Given the description of an element on the screen output the (x, y) to click on. 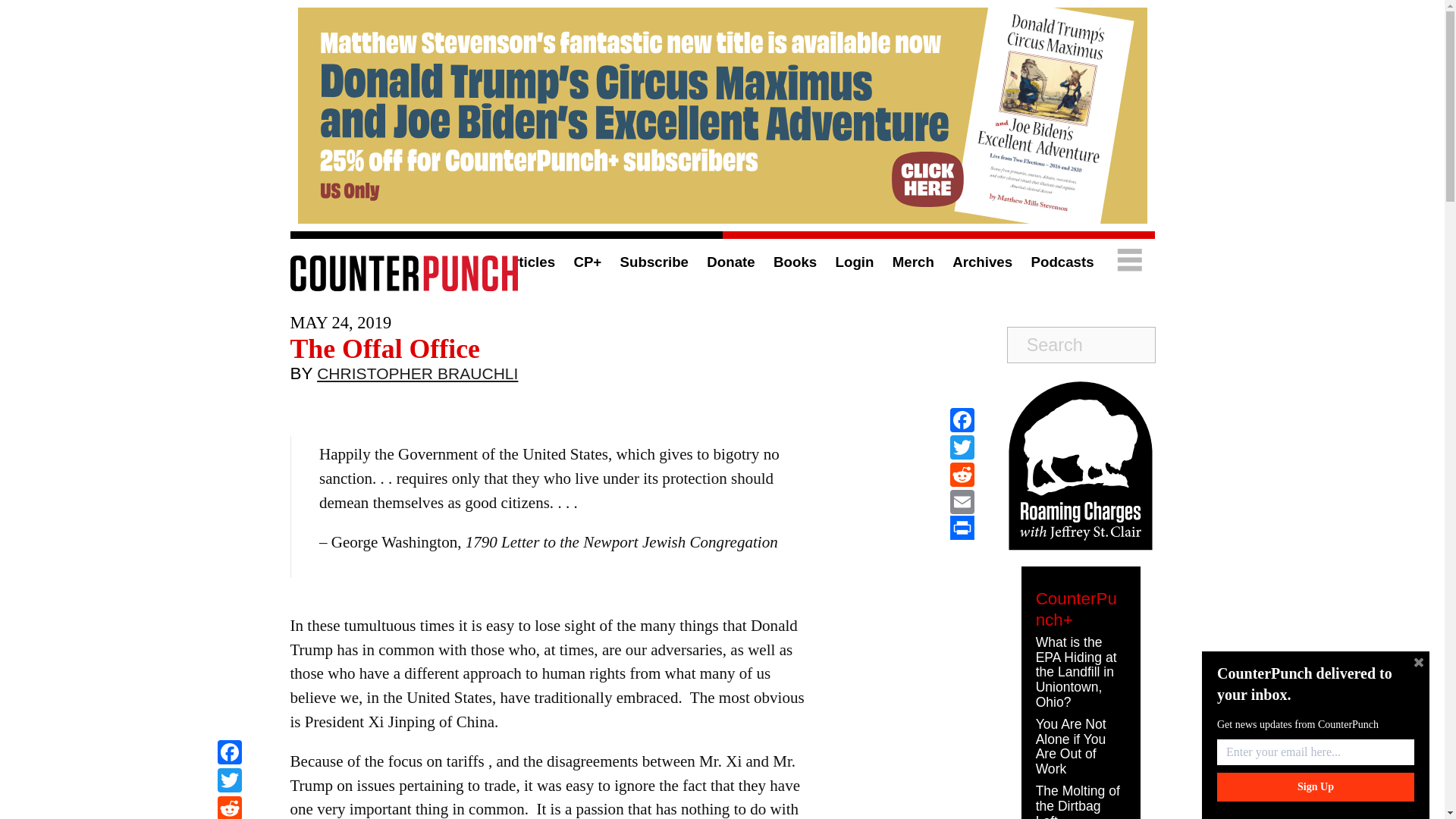
Twitter (229, 782)
Email (962, 501)
Books (794, 261)
Facebook (962, 420)
Login (855, 261)
Facebook (229, 754)
The Offal Office (384, 348)
Donate (730, 261)
Twitter (962, 447)
Close (1418, 662)
Reddit (229, 807)
You Are Not Alone if You Are Out of Work (1070, 746)
Print This Post (962, 527)
Facebook (229, 754)
Reddit (962, 474)
